Given the description of an element on the screen output the (x, y) to click on. 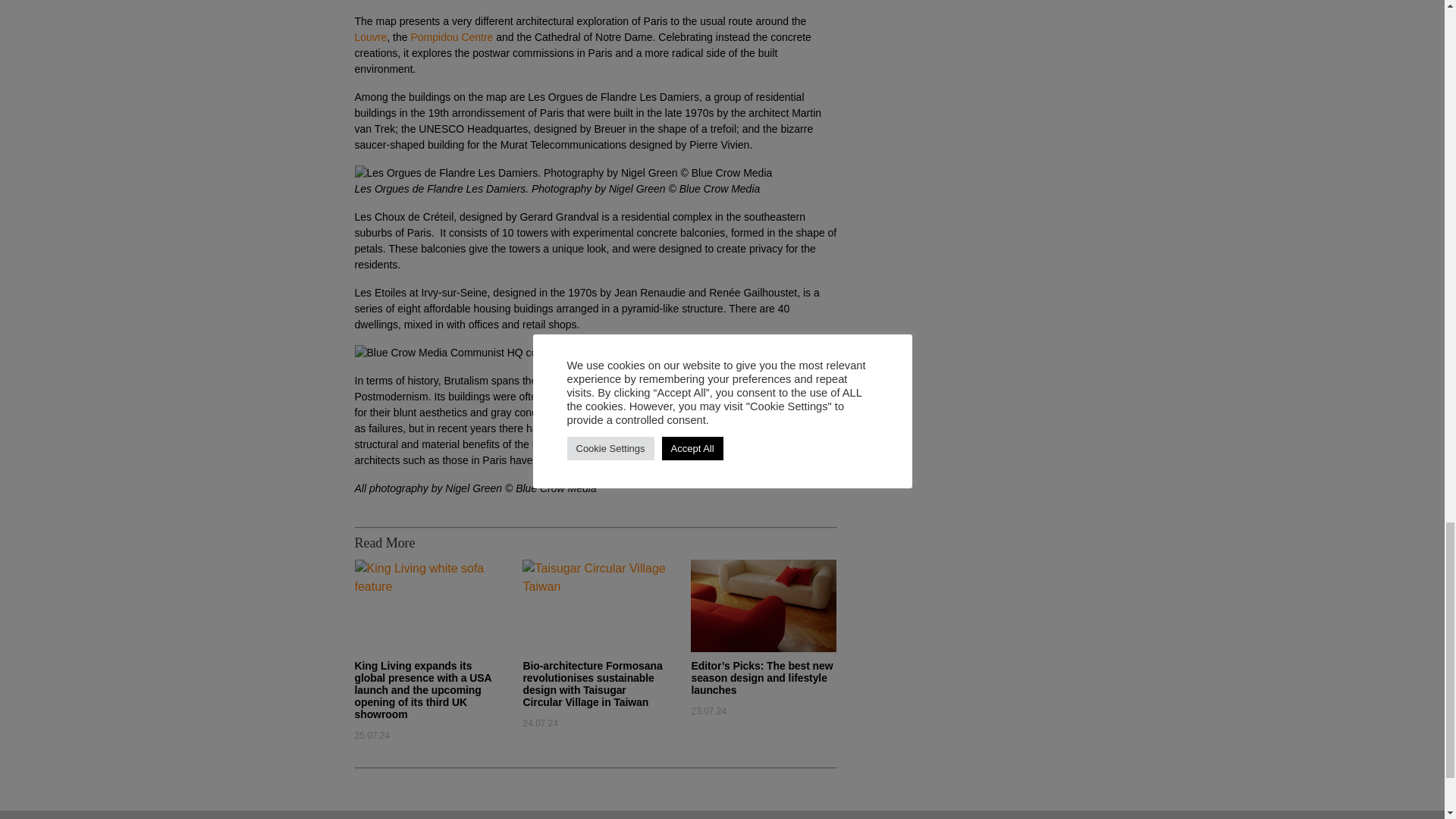
Pompidou Centre (451, 37)
Louvre (371, 37)
